Given the description of an element on the screen output the (x, y) to click on. 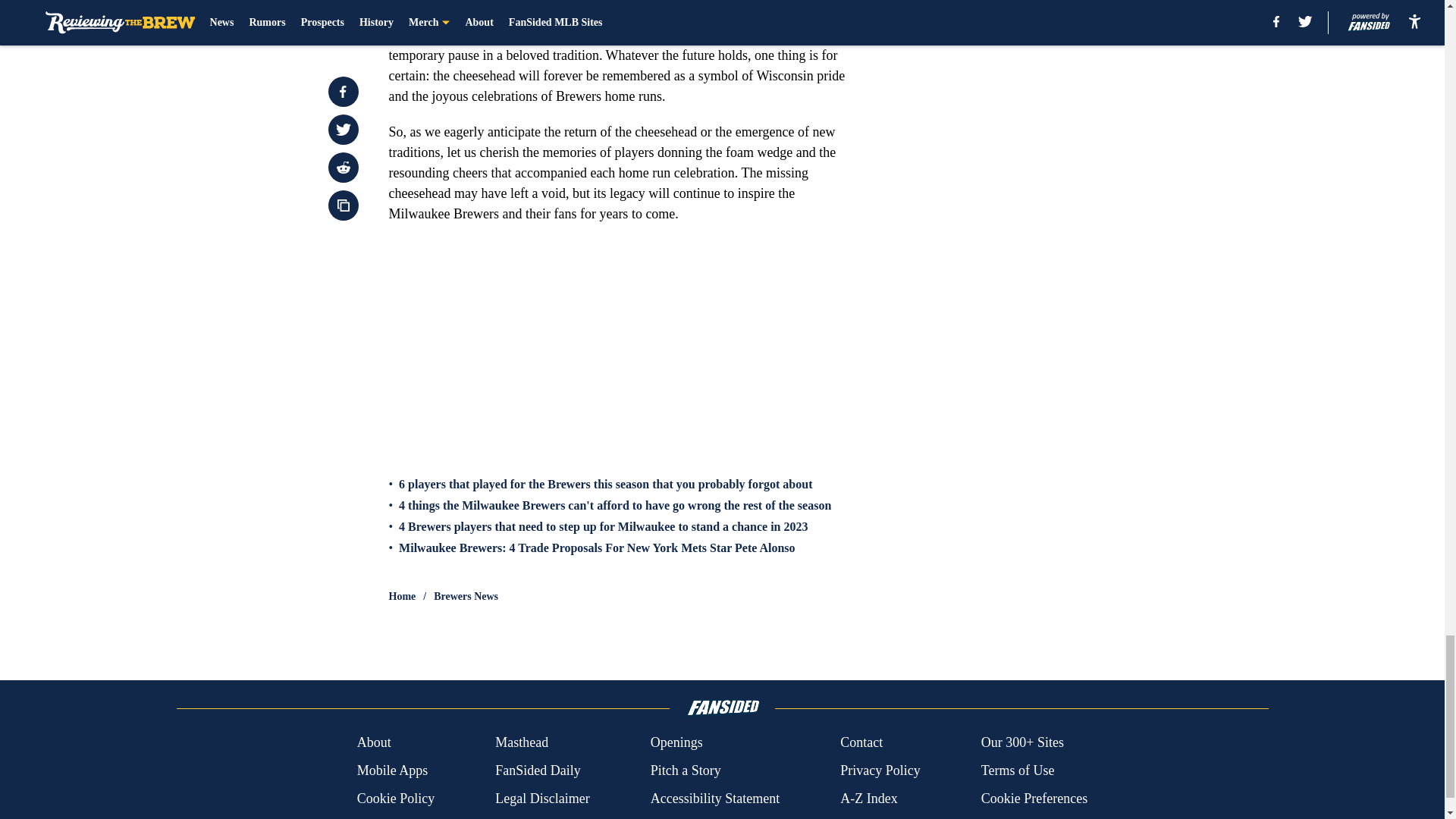
Mobile Apps (392, 770)
About (373, 742)
Masthead (521, 742)
Home (401, 596)
Openings (676, 742)
Brewers News (465, 596)
Contact (861, 742)
